Given the description of an element on the screen output the (x, y) to click on. 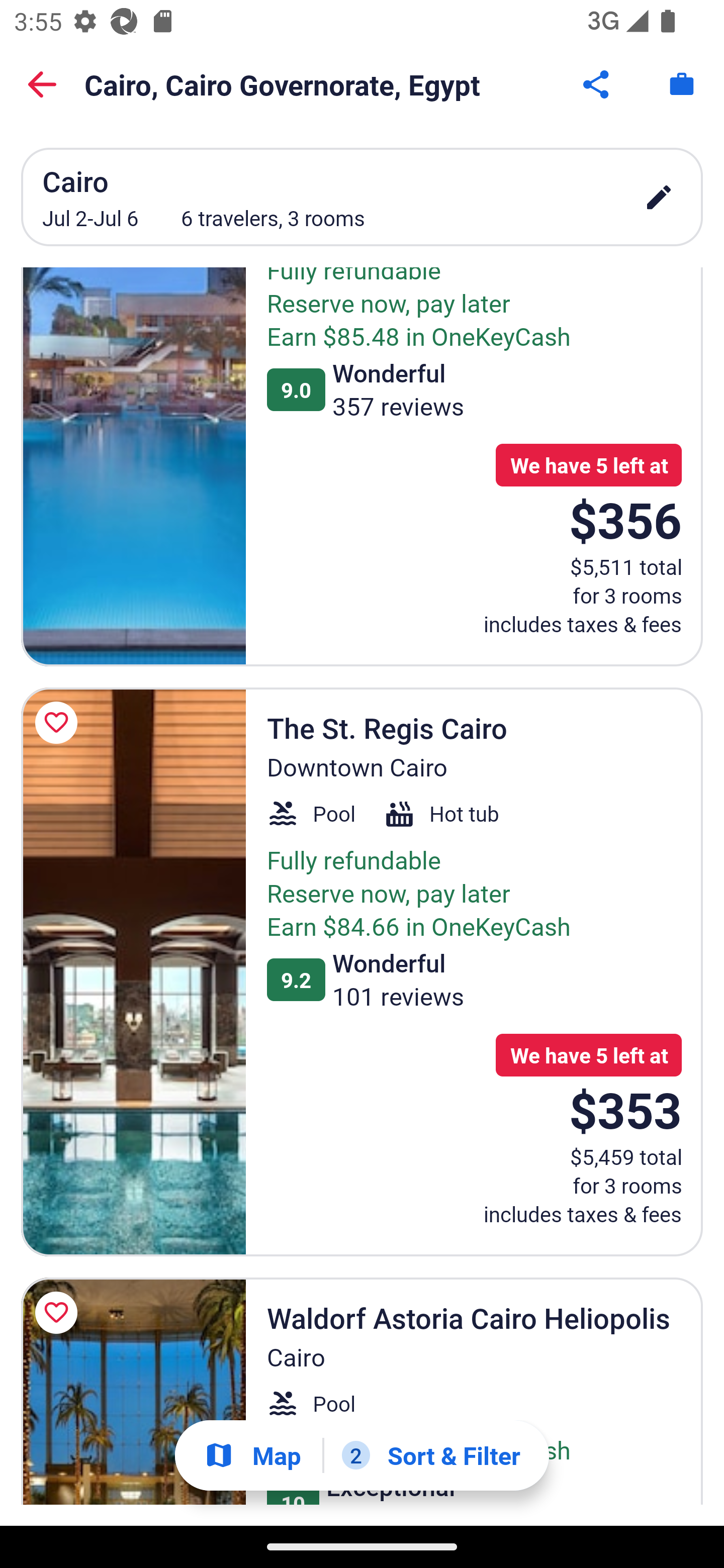
Back (42, 84)
Share Button (597, 84)
Trips. Button (681, 84)
Cairo Jul 2-Jul 6 6 travelers, 3 rooms edit (361, 196)
The Nile Ritz-Carlton, Cairo (133, 467)
Save The St. Regis Cairo to a trip (59, 722)
The St. Regis Cairo (133, 970)
Save Waldorf Astoria Cairo Heliopolis to a trip (59, 1312)
Waldorf Astoria Cairo Heliopolis (133, 1391)
2 Sort & Filter 2 Filters applied. Filters Button (430, 1455)
Show map Map Show map Button (252, 1455)
